Given the description of an element on the screen output the (x, y) to click on. 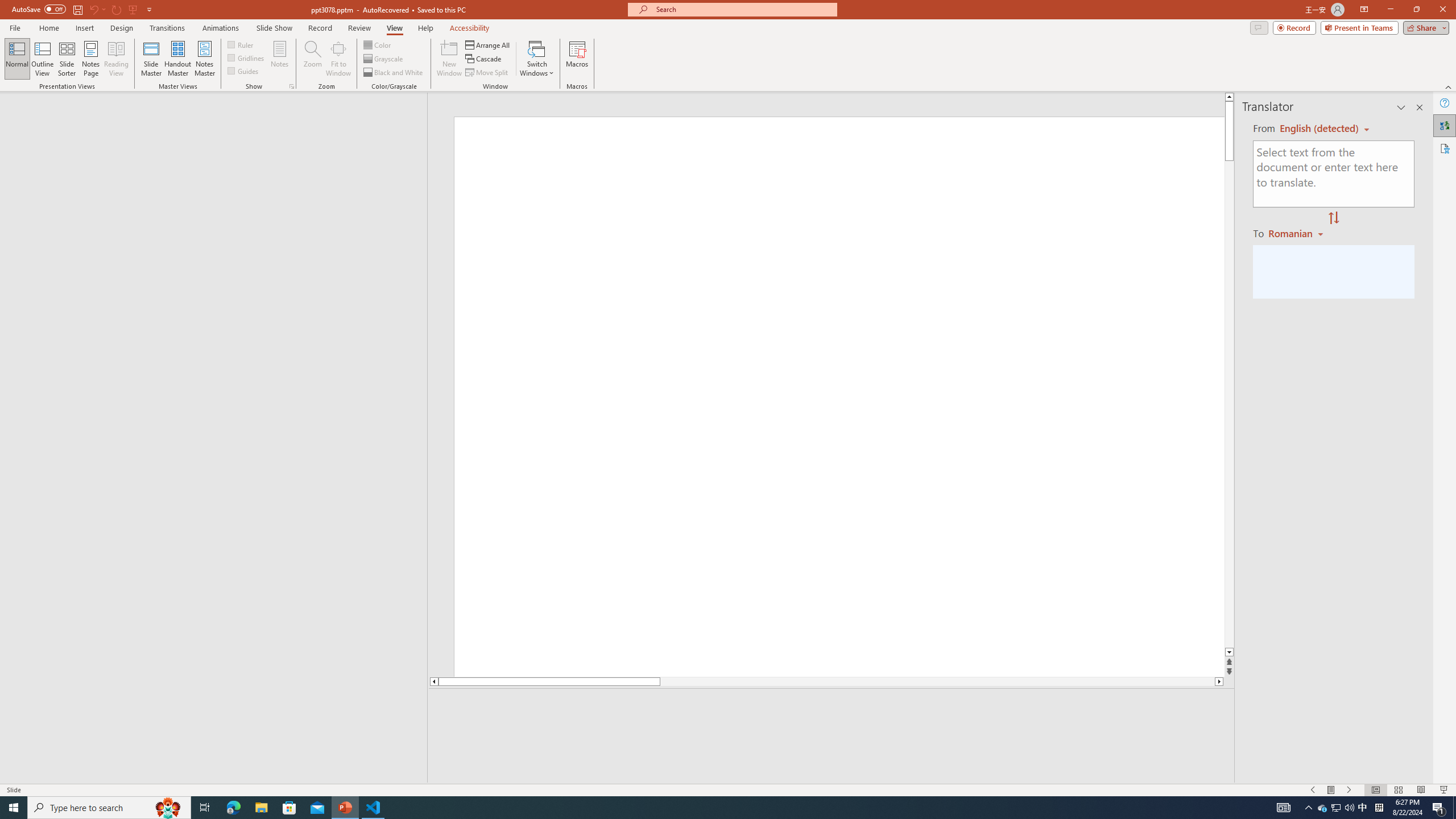
Cascade (484, 58)
Czech (detected) (1319, 128)
Color (377, 44)
Switch Windows (537, 58)
Slide Master (151, 58)
Slide Show Next On (1349, 790)
New Window (449, 58)
